Given the description of an element on the screen output the (x, y) to click on. 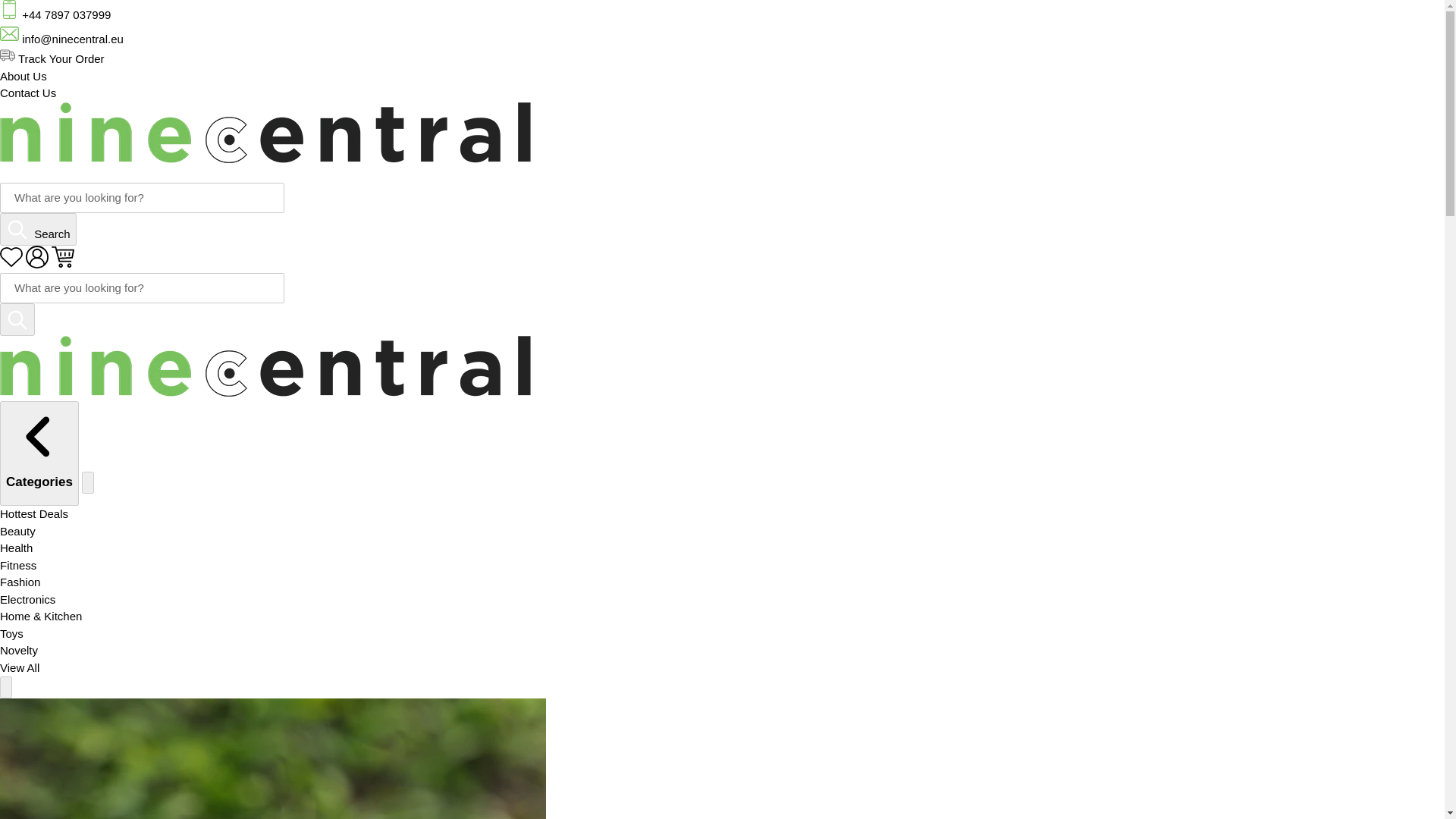
Fitness (18, 564)
Search (38, 228)
Toys (11, 633)
About Us (23, 75)
Track Your Order (52, 58)
Health (16, 547)
Hottest Deals (34, 513)
Electronics (27, 599)
Contact Us (28, 92)
View All (19, 667)
Beauty (17, 530)
Fashion (20, 581)
Novelty (18, 649)
